Given the description of an element on the screen output the (x, y) to click on. 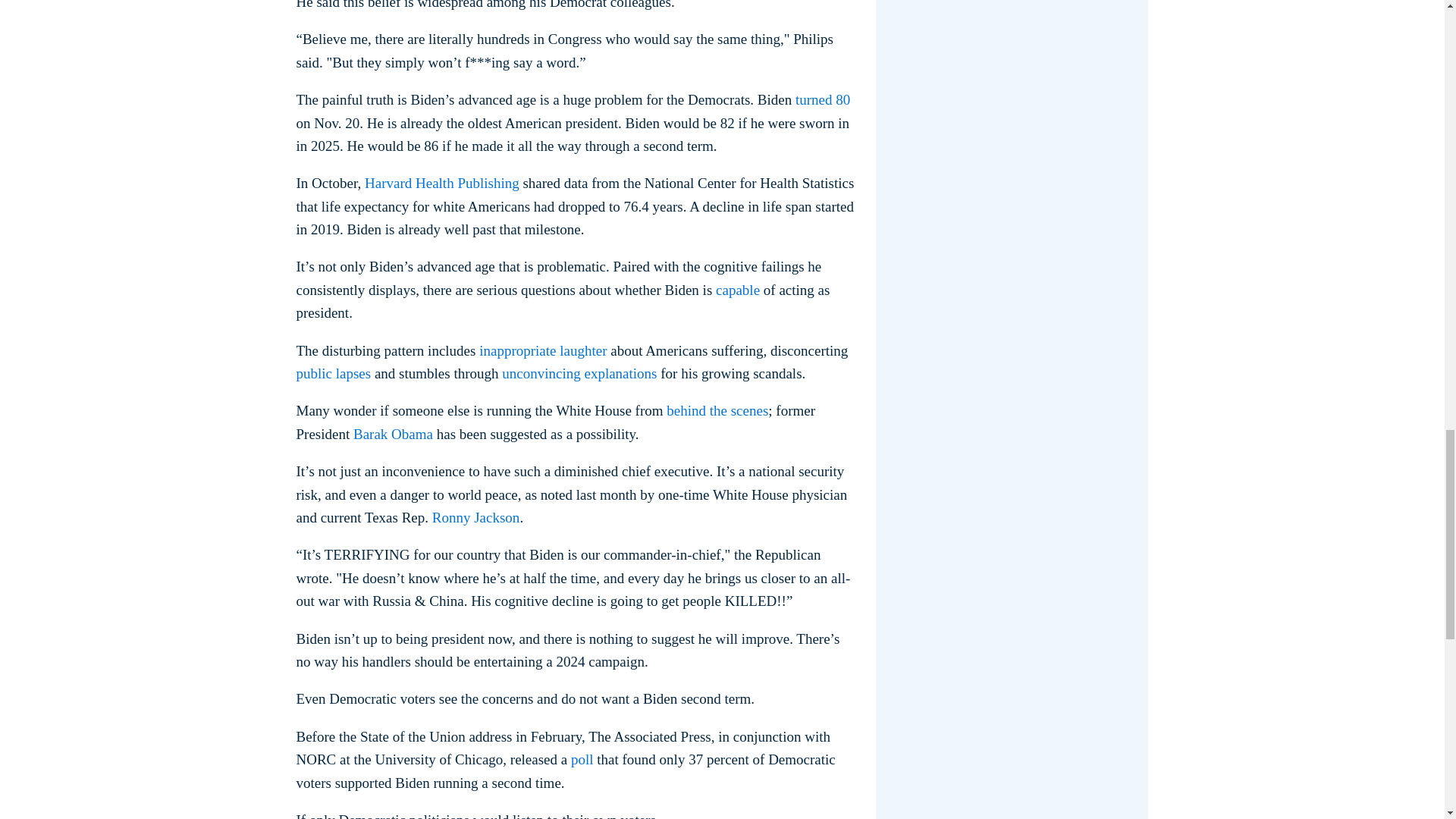
unconvincing explanations (579, 373)
Ronny Jackson (475, 517)
turned 80 (822, 99)
poll (582, 759)
public lapses (333, 373)
Harvard Health Publishing (442, 182)
capable (738, 289)
behind the scenes (717, 410)
inappropriate laughter (543, 350)
Barak Obama (392, 433)
